Given the description of an element on the screen output the (x, y) to click on. 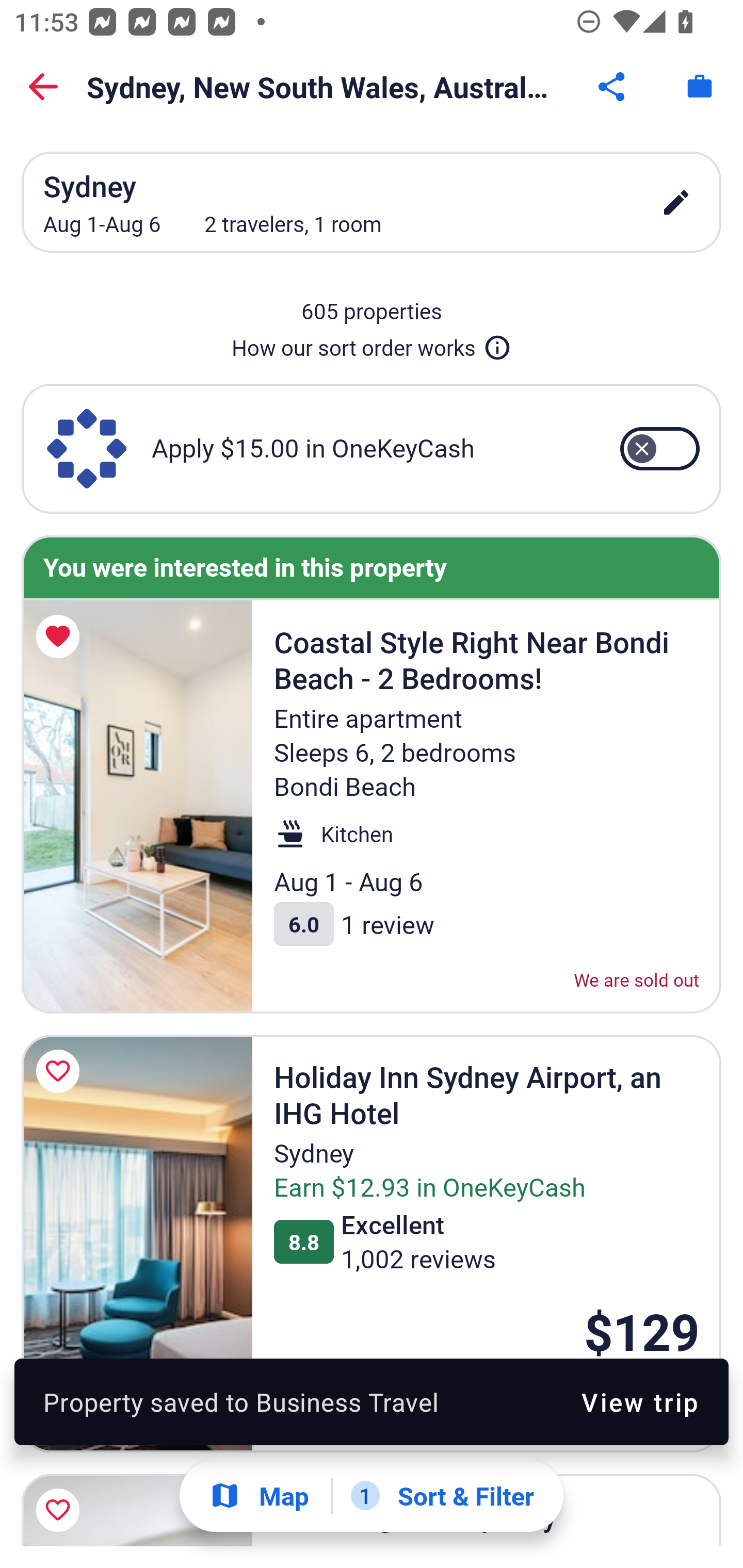
Back (43, 86)
Share Button (612, 86)
Trips. Button (699, 86)
Sydney Aug 1-Aug 6 2 travelers, 1 room edit (371, 202)
How our sort order works (371, 344)
Coastal Style Right Near Bondi Beach - 2 Bedrooms! (136, 806)
Holiday Inn Sydney Airport, an IHG Hotel (136, 1242)
View trip (640, 1401)
1 Sort & Filter 1 Filter applied. Filters Button (442, 1495)
Save The Langham, Sydney to a trip (61, 1506)
Show map Map Show map Button (258, 1495)
